Given the description of an element on the screen output the (x, y) to click on. 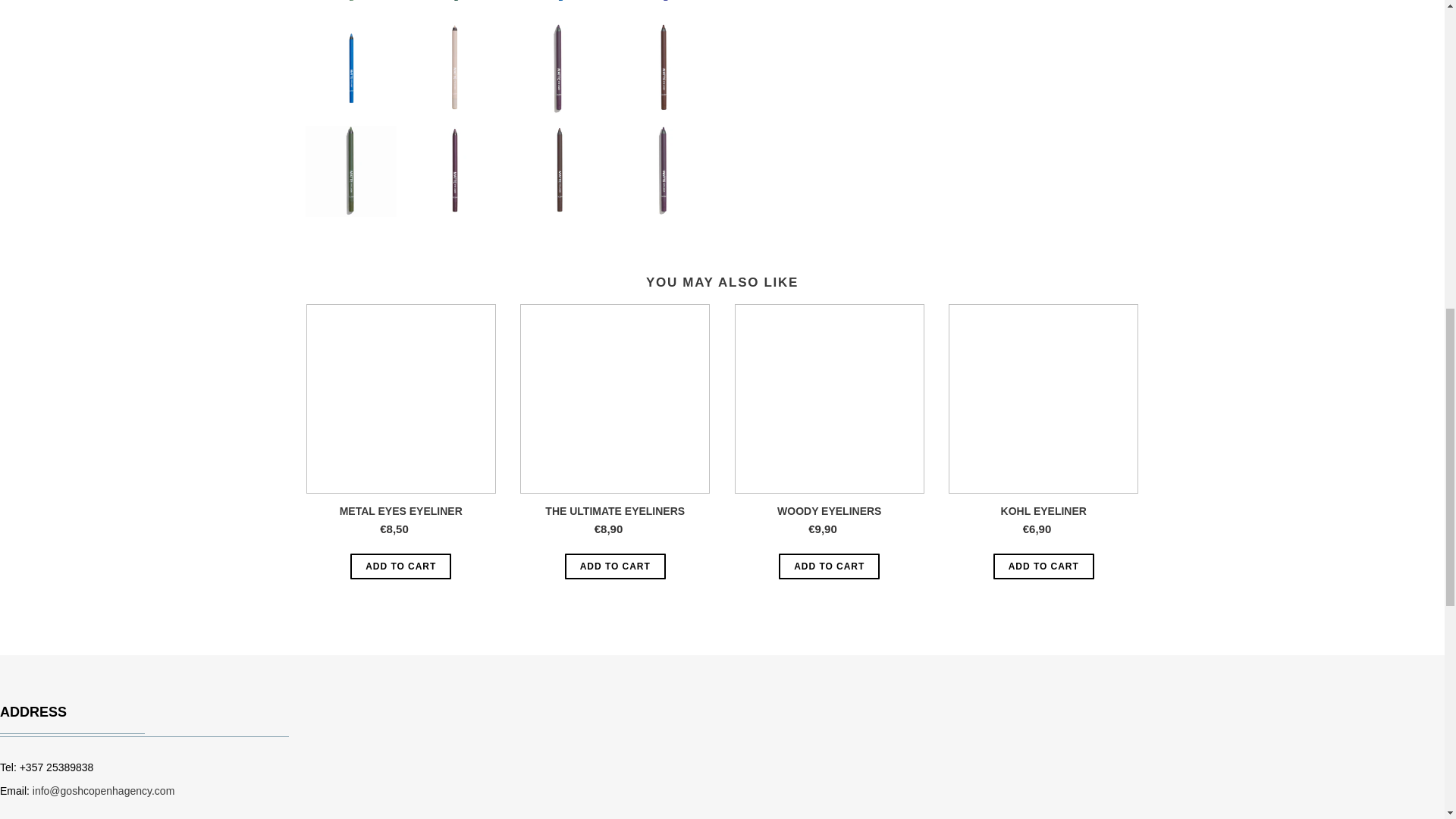
Add to cart (828, 566)
Add to cart (400, 566)
Add to cart (614, 566)
Add to cart (1043, 566)
